Given the description of an element on the screen output the (x, y) to click on. 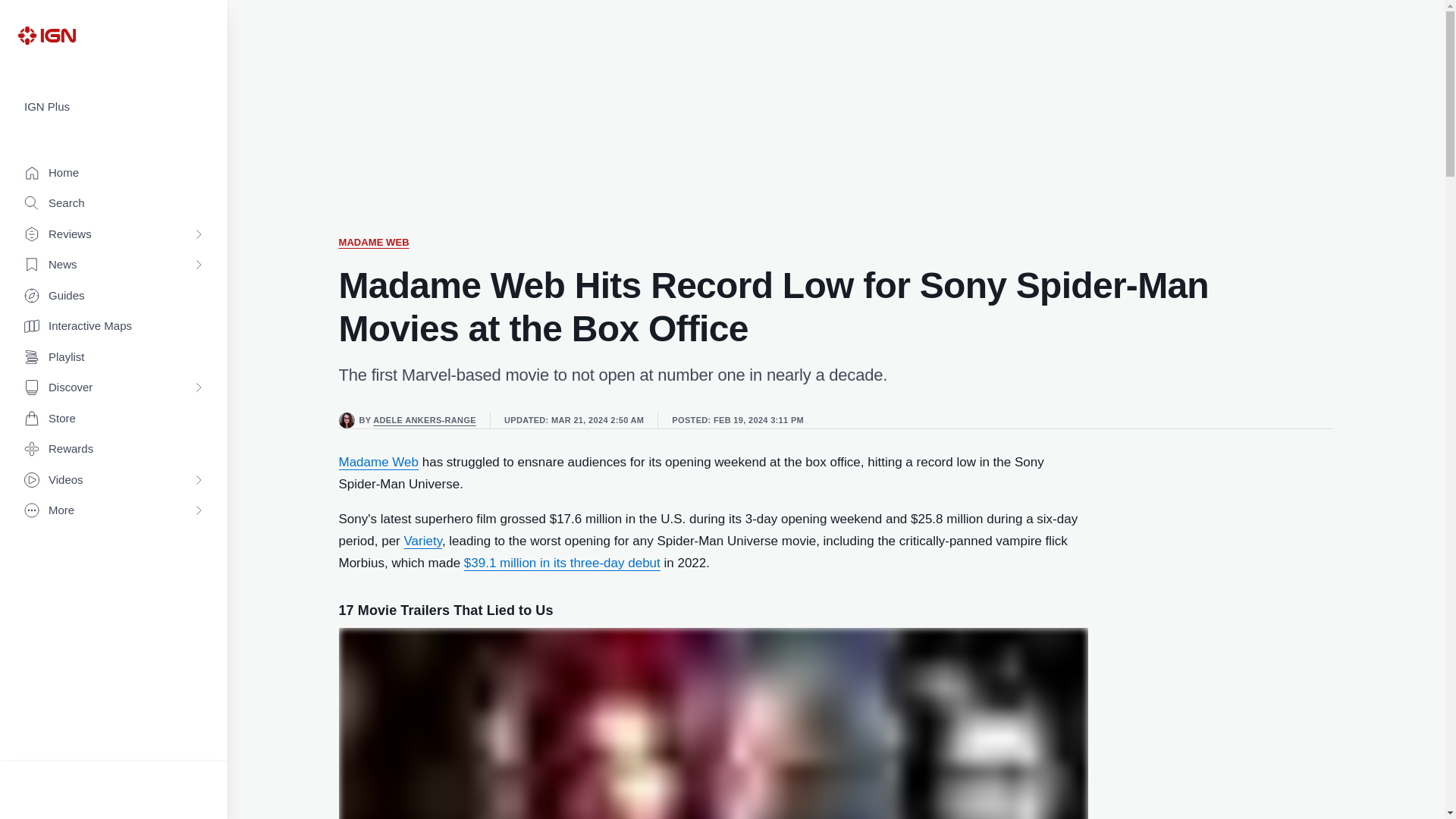
Playlist (113, 357)
Discover (113, 387)
IGN (46, 35)
IGN Logo (46, 35)
Home (113, 172)
Reviews (113, 234)
IGN Plus (113, 107)
News (113, 265)
Rewards (113, 449)
Guides (113, 295)
News (113, 265)
Videos (113, 480)
Discover (113, 387)
Store (113, 418)
Interactive Maps (113, 326)
